Given the description of an element on the screen output the (x, y) to click on. 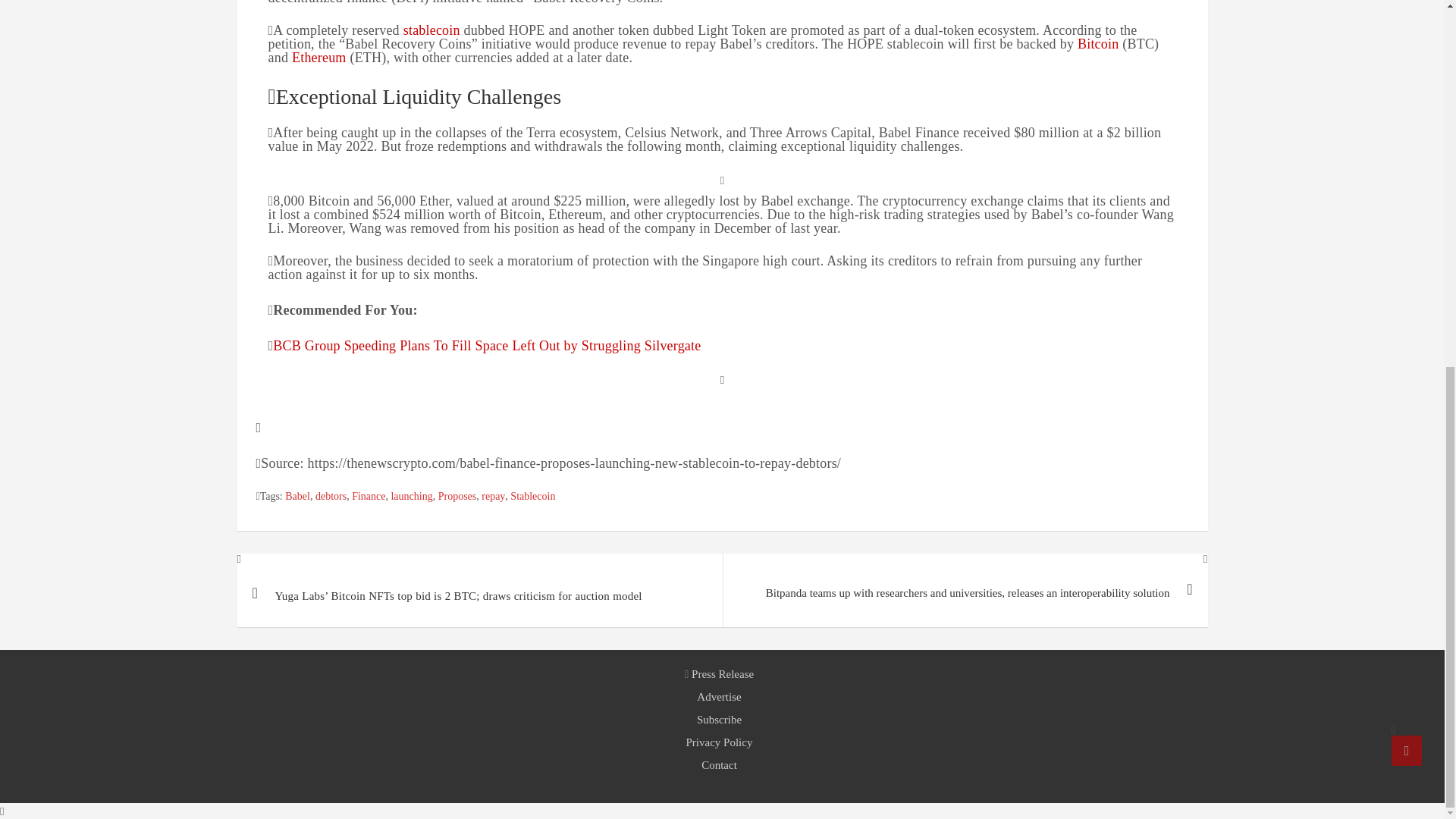
stablecoin (431, 29)
Ethereum (319, 57)
Babel (297, 496)
Go to Top (1406, 89)
Proposes (457, 496)
launching (411, 496)
repay (493, 496)
Finance (368, 496)
debtors (330, 496)
Bitcoin (1097, 43)
